Given the description of an element on the screen output the (x, y) to click on. 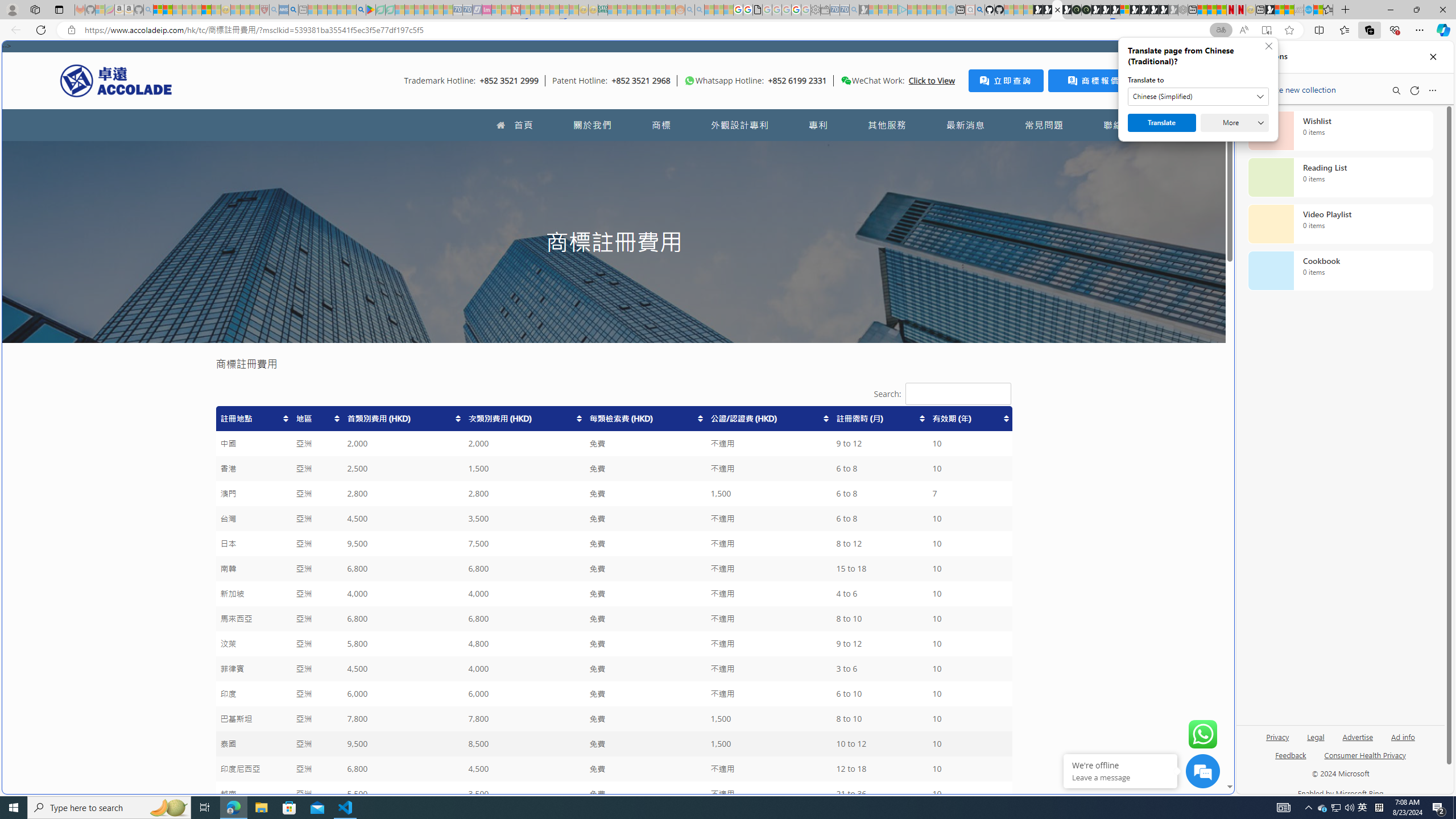
12 to 18 (879, 769)
Class: row-7 odd (613, 568)
Video Playlist collection, 0 items (1339, 223)
Create new collection (1293, 87)
Search or enter web address (922, 108)
Robert H. Shmerling, MD - Harvard Health - Sleeping (263, 9)
Consumer Health Privacy (1364, 754)
Earth has six continents not seven, radical new study claims (1288, 9)
9 to 12 (879, 643)
